Given the description of an element on the screen output the (x, y) to click on. 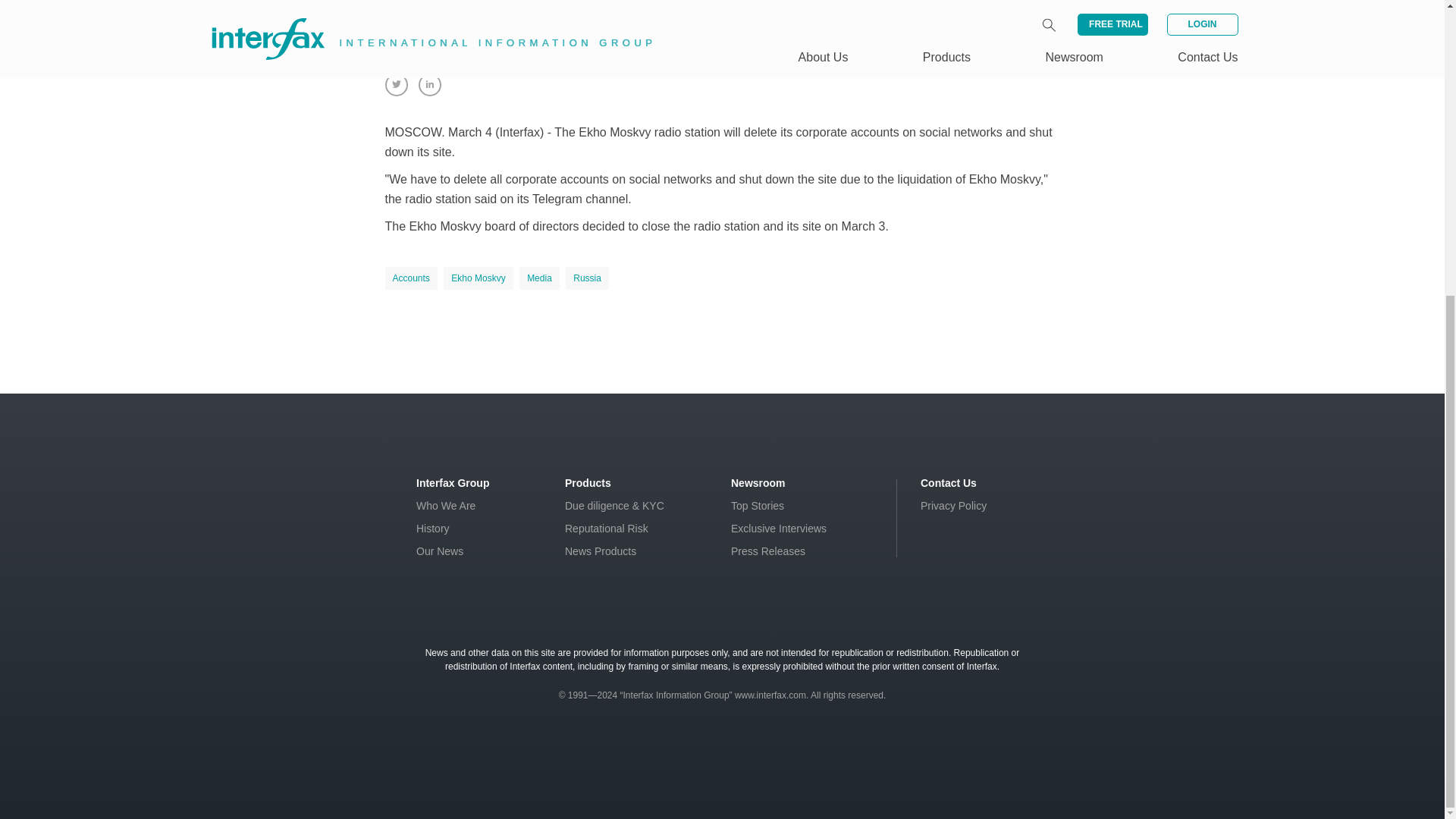
Accounts (411, 277)
Russia (587, 277)
Media (539, 277)
Ekho Moskvy (478, 277)
